Given the description of an element on the screen output the (x, y) to click on. 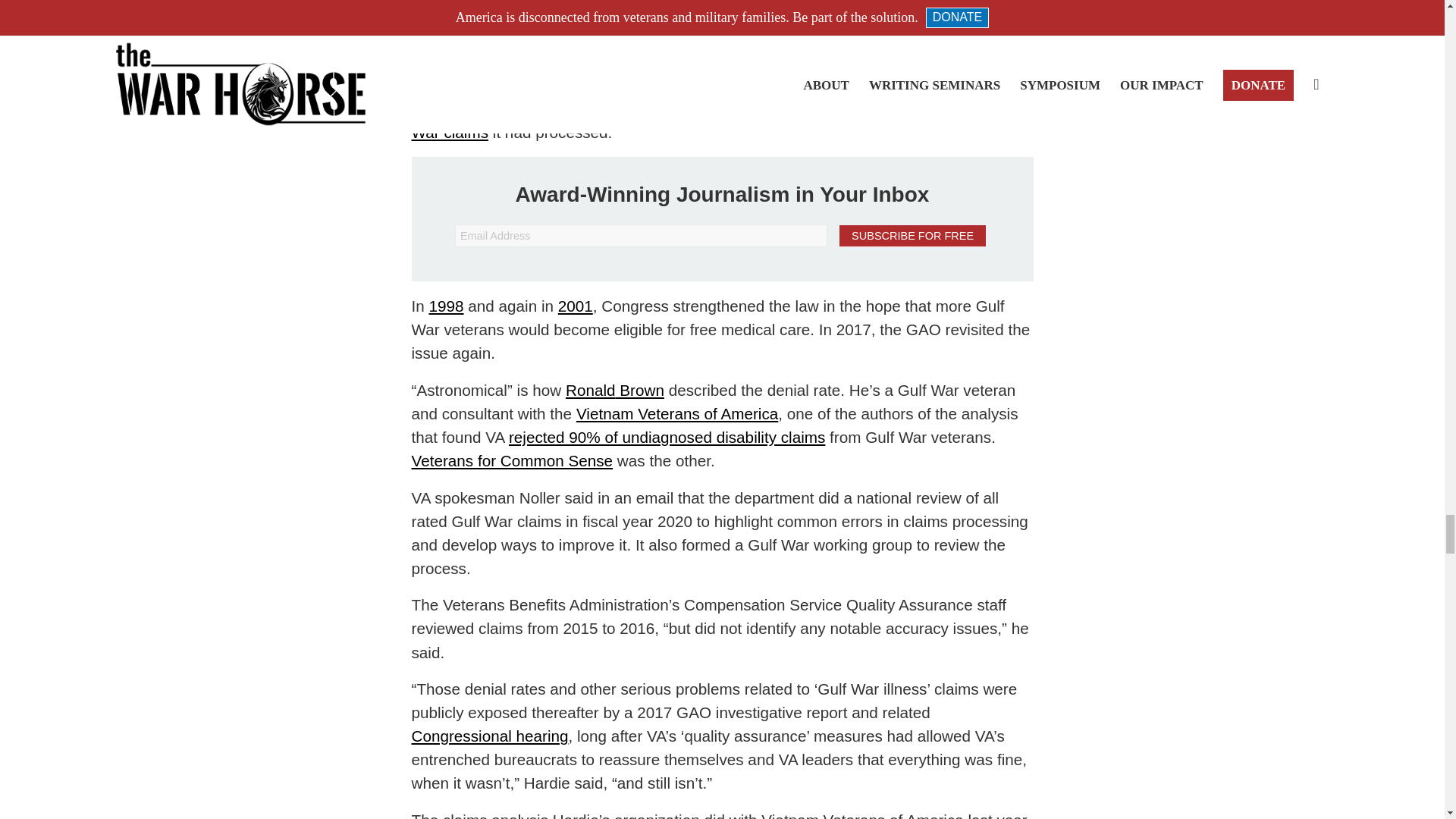
Subscribe for free (912, 235)
